Given the description of an element on the screen output the (x, y) to click on. 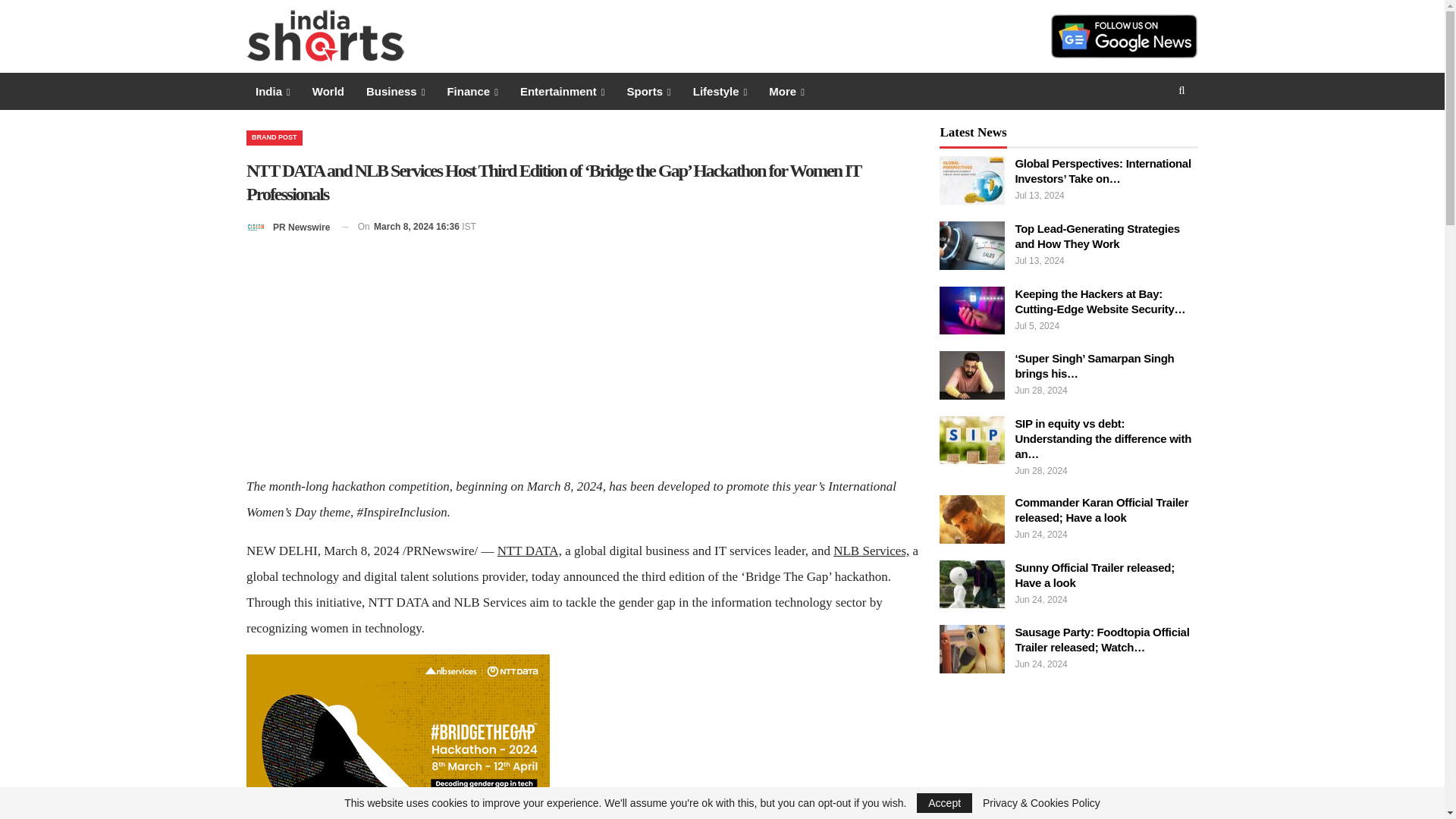
World (327, 91)
Finance (472, 91)
Business (394, 91)
Lifestyle (720, 91)
Entertainment (562, 91)
India (272, 91)
Browse Author Articles (288, 227)
More (786, 91)
Sports (648, 91)
